Given the description of an element on the screen output the (x, y) to click on. 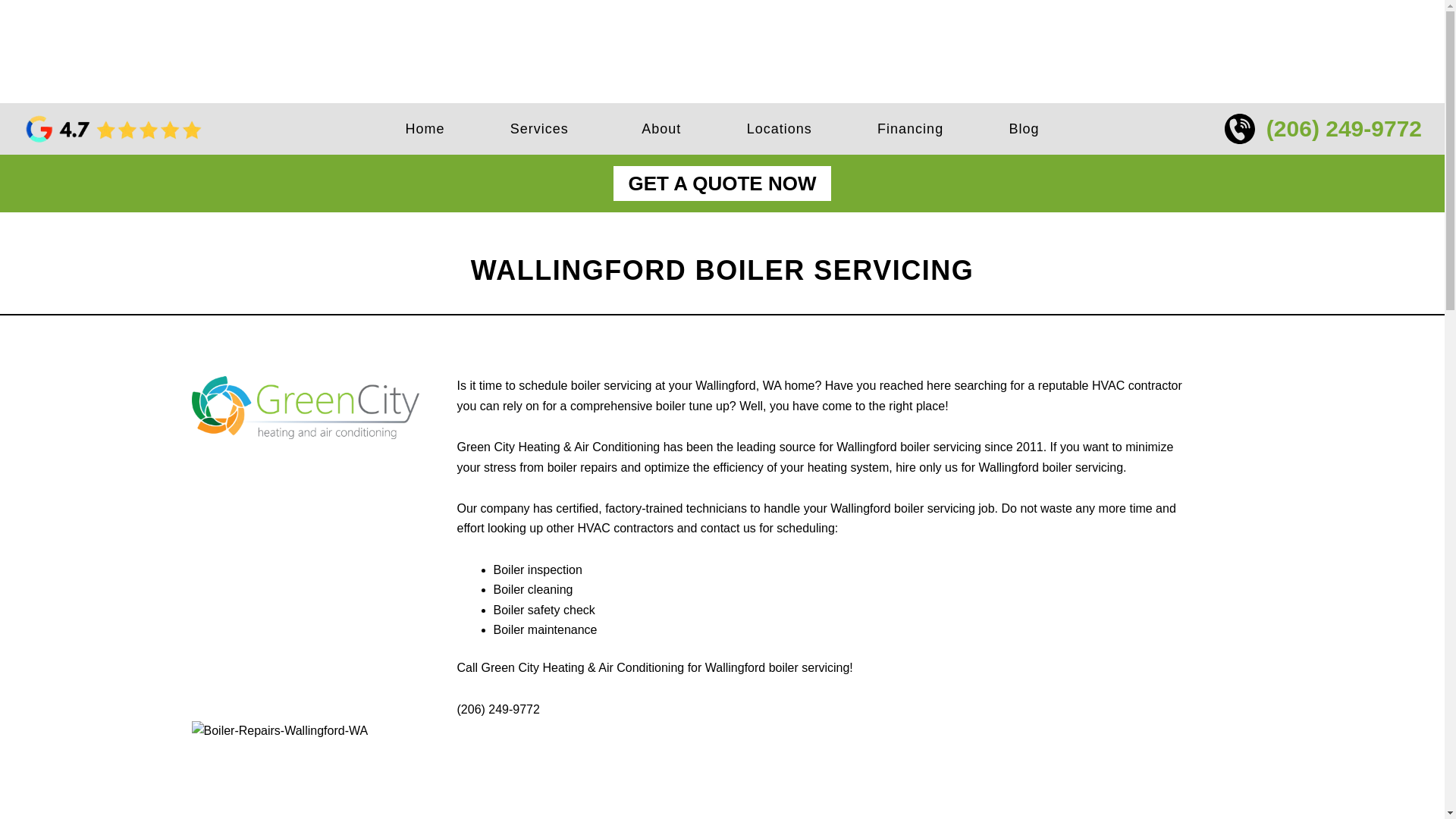
Services (542, 128)
GET A QUOTE NOW (721, 183)
Locations (778, 128)
Financing (909, 128)
Home (424, 128)
Blog (1023, 128)
About (660, 128)
